Given the description of an element on the screen output the (x, y) to click on. 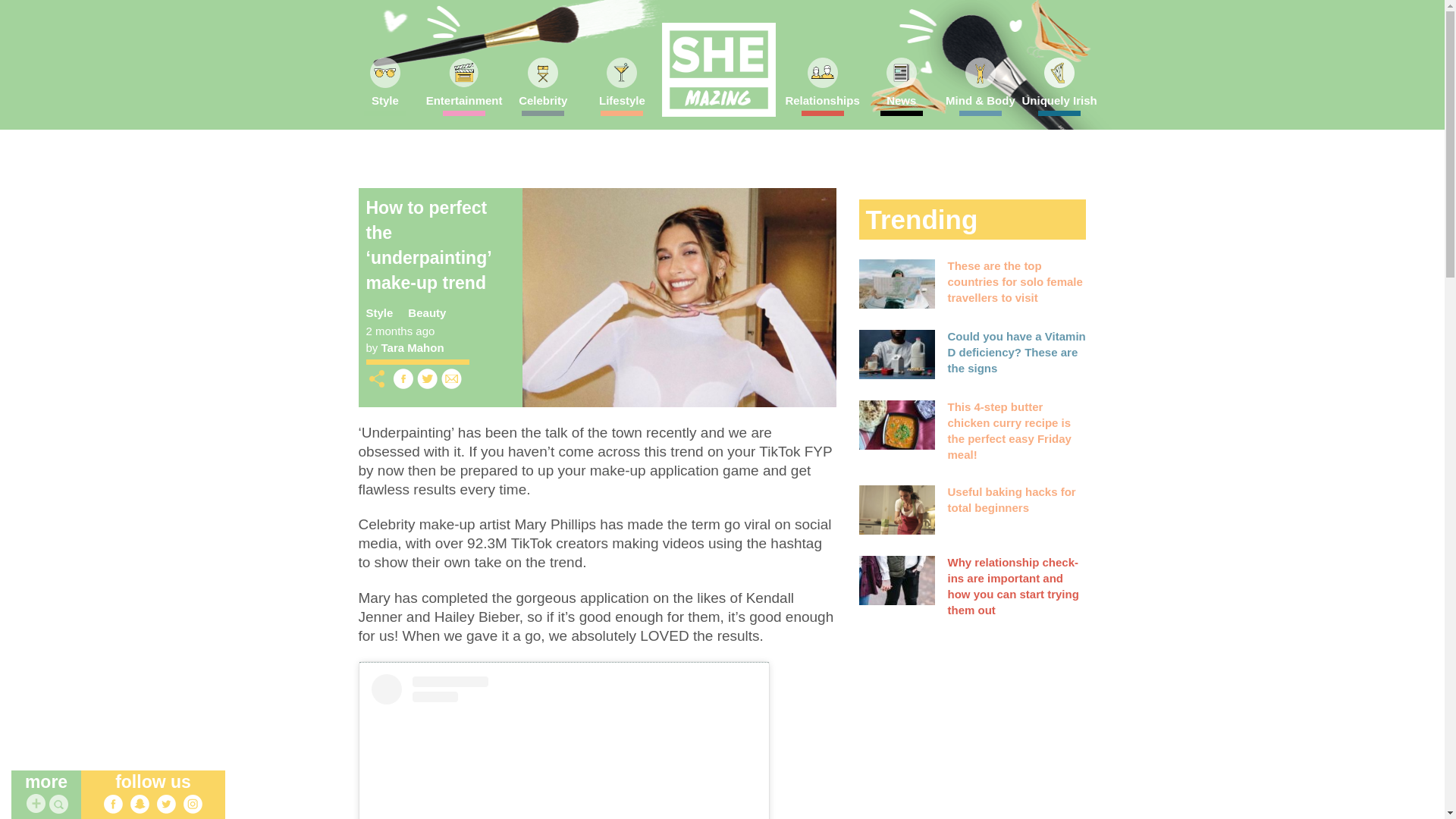
Relationships (822, 104)
Lifestyle (621, 104)
Entertainment (464, 104)
SHEmazing! (717, 69)
Style (385, 104)
News (901, 104)
Celebrity (542, 104)
